Given the description of an element on the screen output the (x, y) to click on. 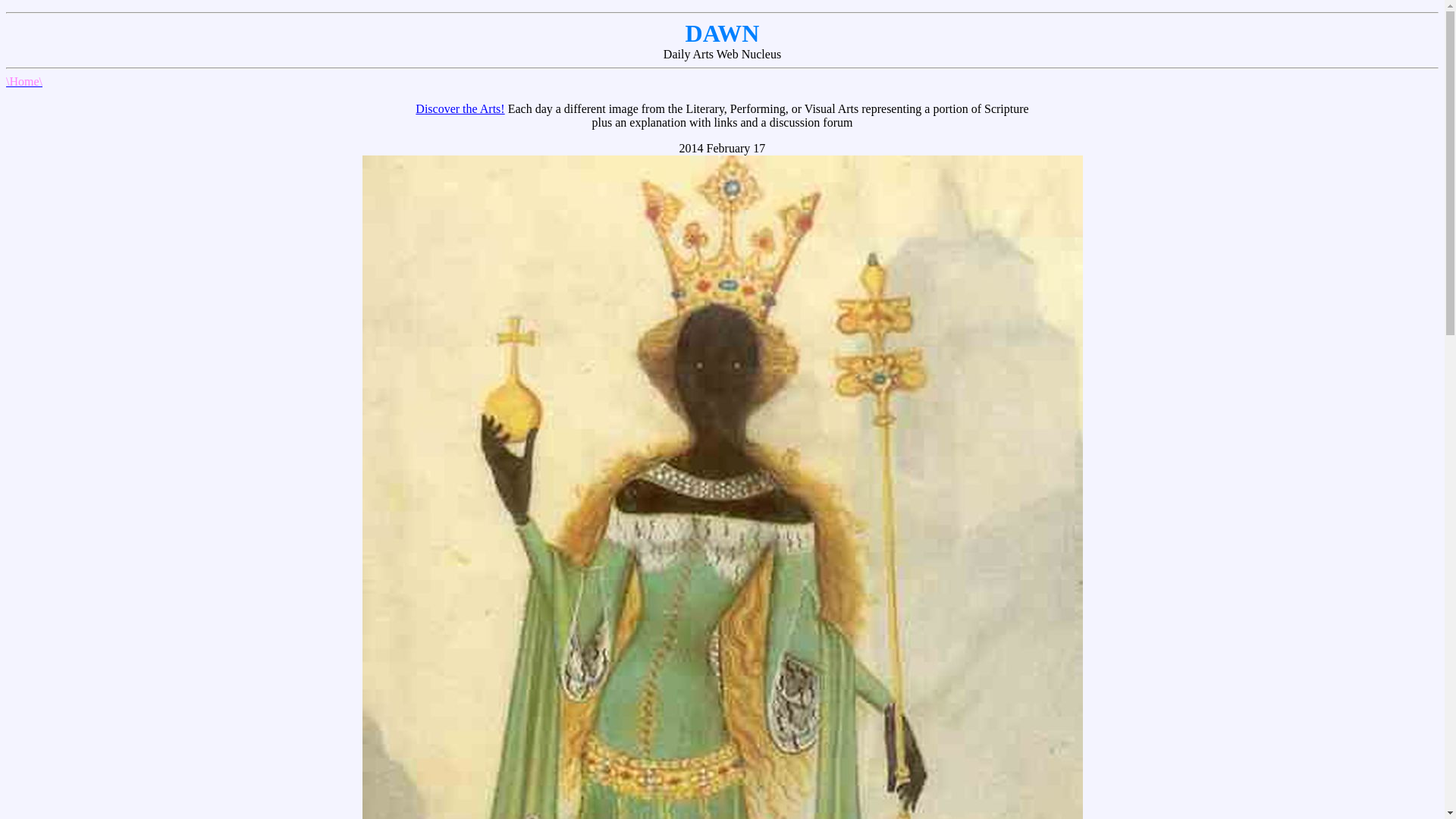
Discover the Arts! (458, 108)
